Given the description of an element on the screen output the (x, y) to click on. 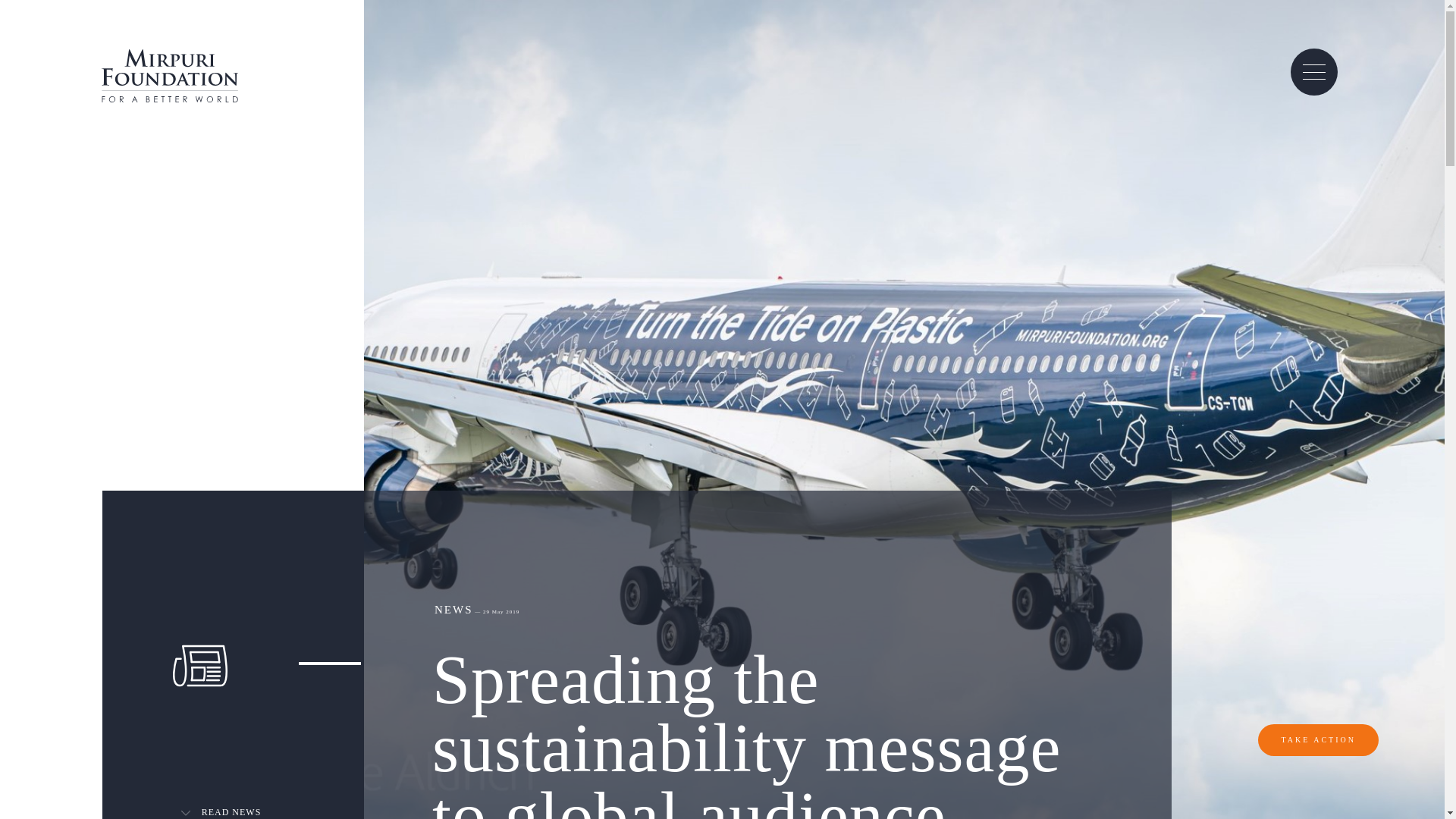
TAKE ACTION (1317, 739)
TAKE ACTION (1317, 738)
